Given the description of an element on the screen output the (x, y) to click on. 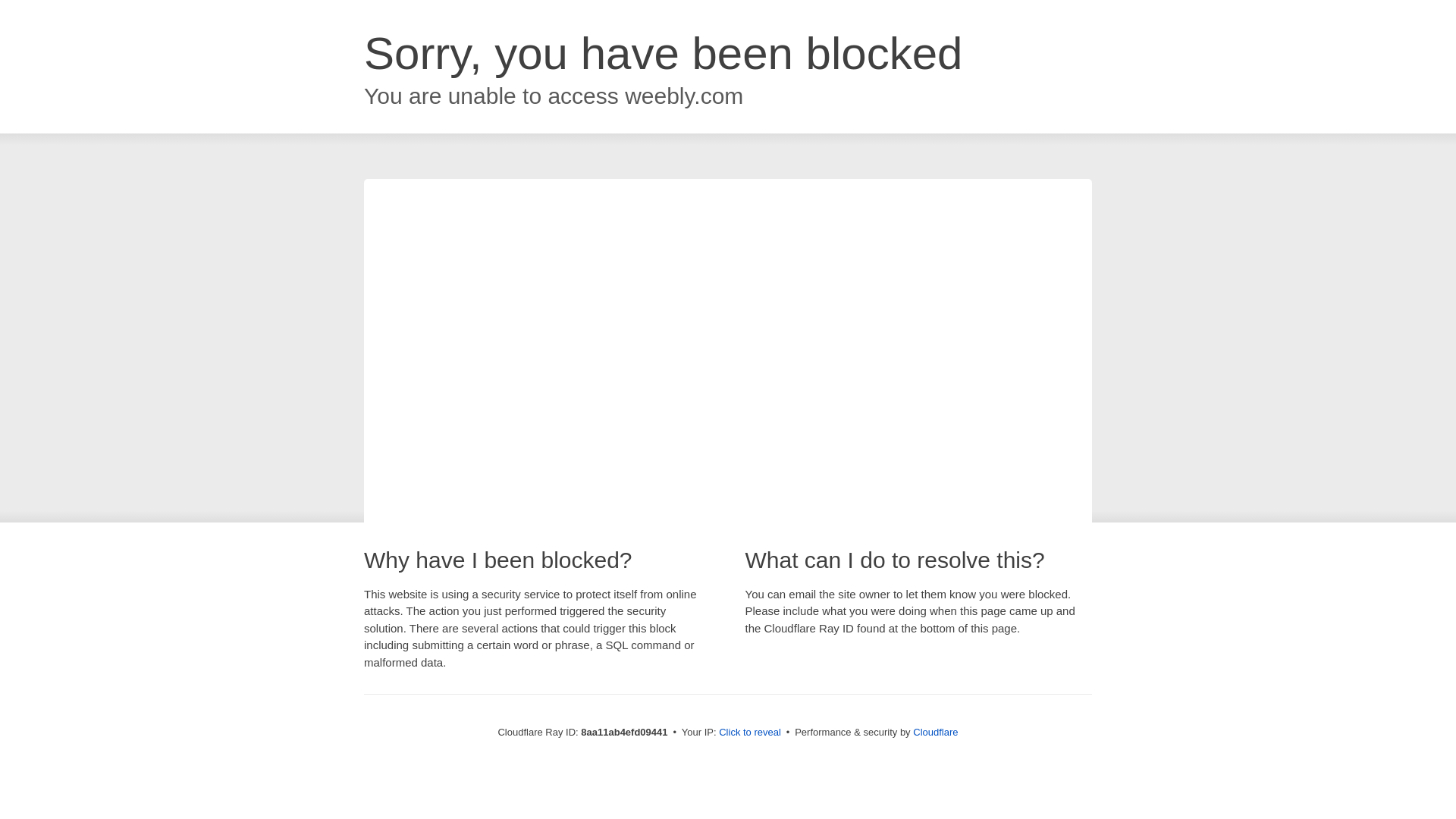
Cloudflare (935, 731)
Click to reveal (749, 732)
